Given the description of an element on the screen output the (x, y) to click on. 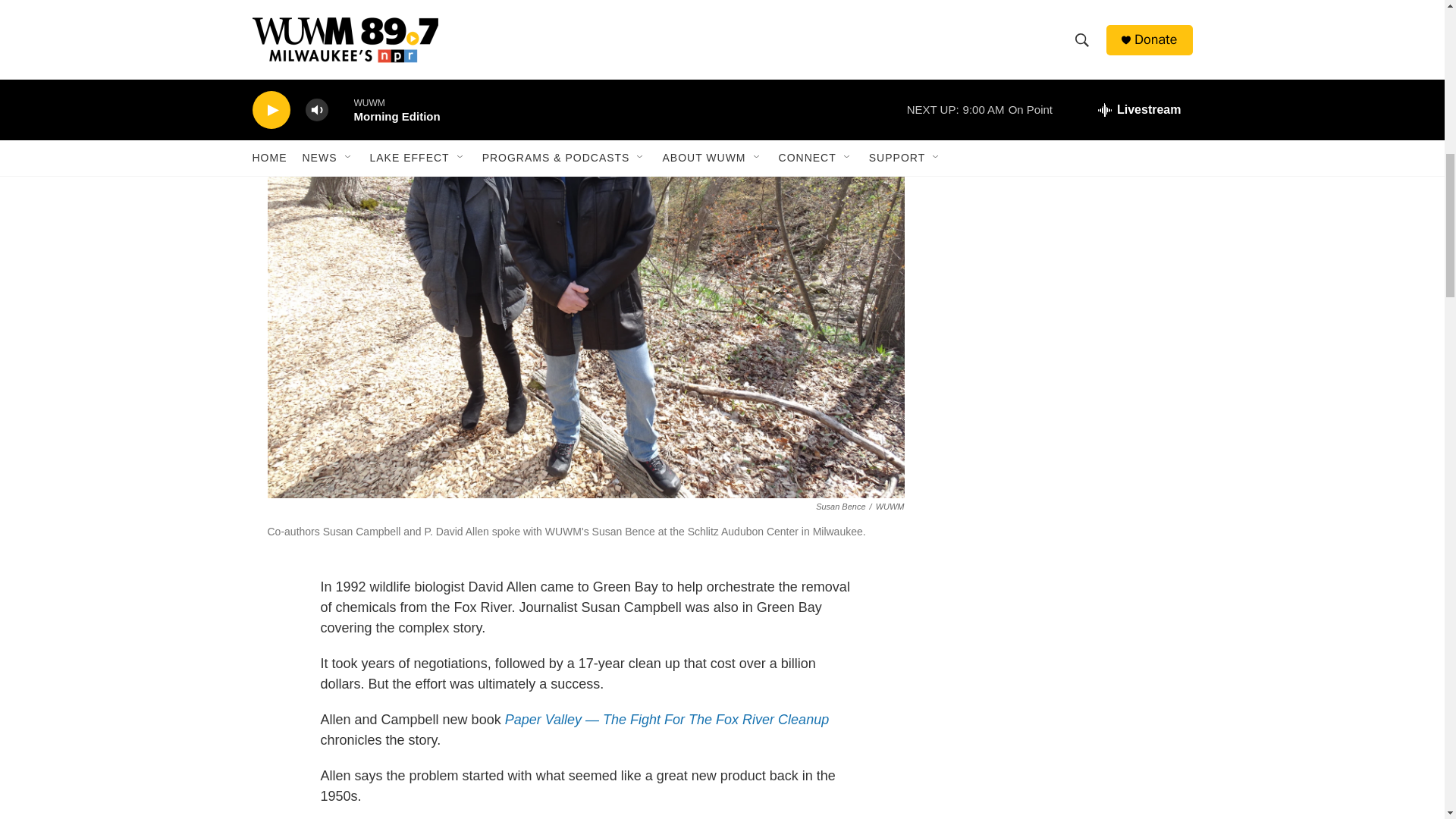
3rd party ad content (1062, 80)
